Given the description of an element on the screen output the (x, y) to click on. 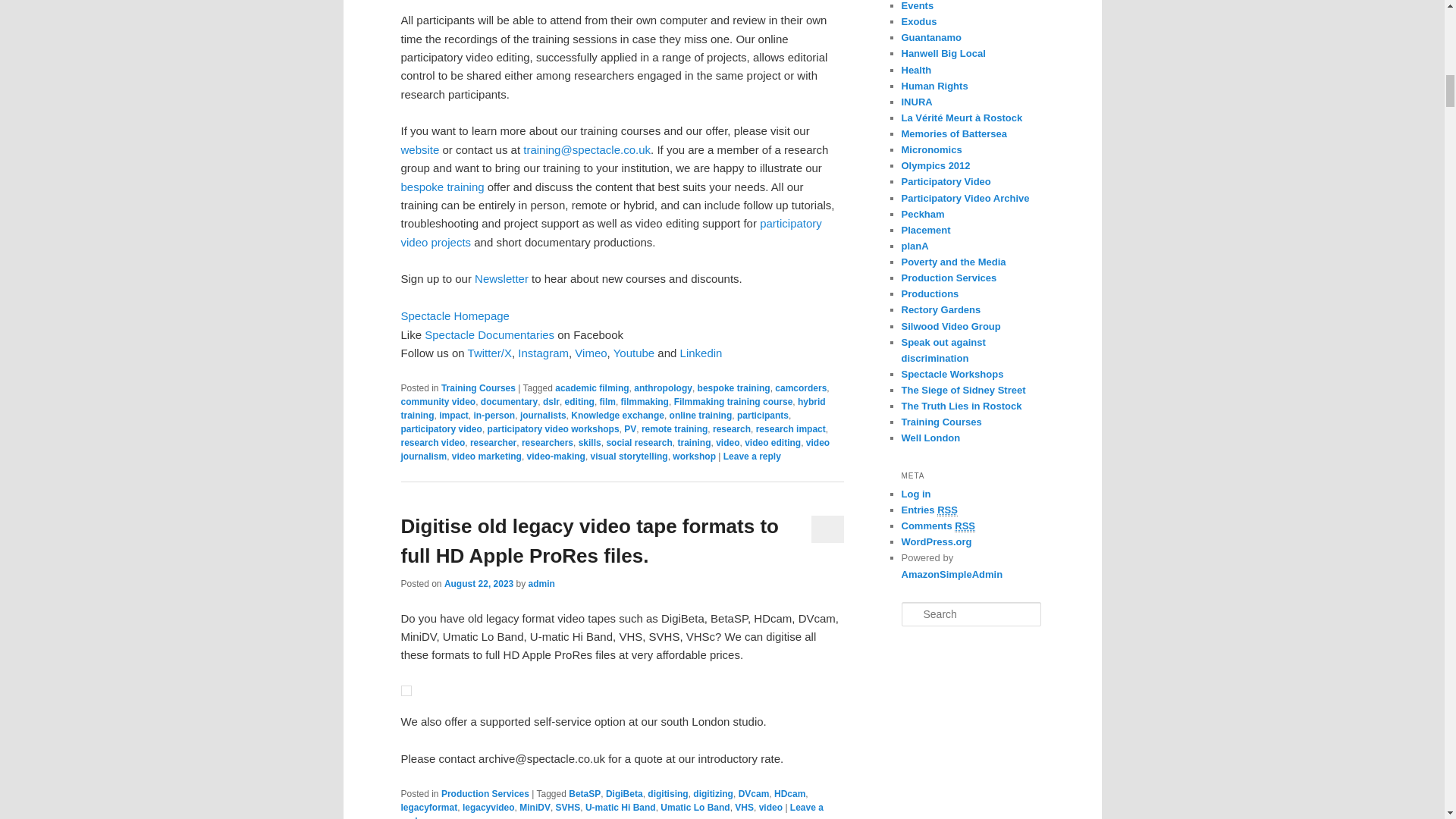
website (419, 149)
participatory video projects (610, 232)
Linkedin (700, 352)
Spectacle Homepage (454, 315)
Spectacle Documentaries  (491, 334)
1:44 pm (478, 583)
Newsletter (501, 278)
Youtube (633, 352)
Instagram (543, 352)
bespoke training (733, 388)
